Given the description of an element on the screen output the (x, y) to click on. 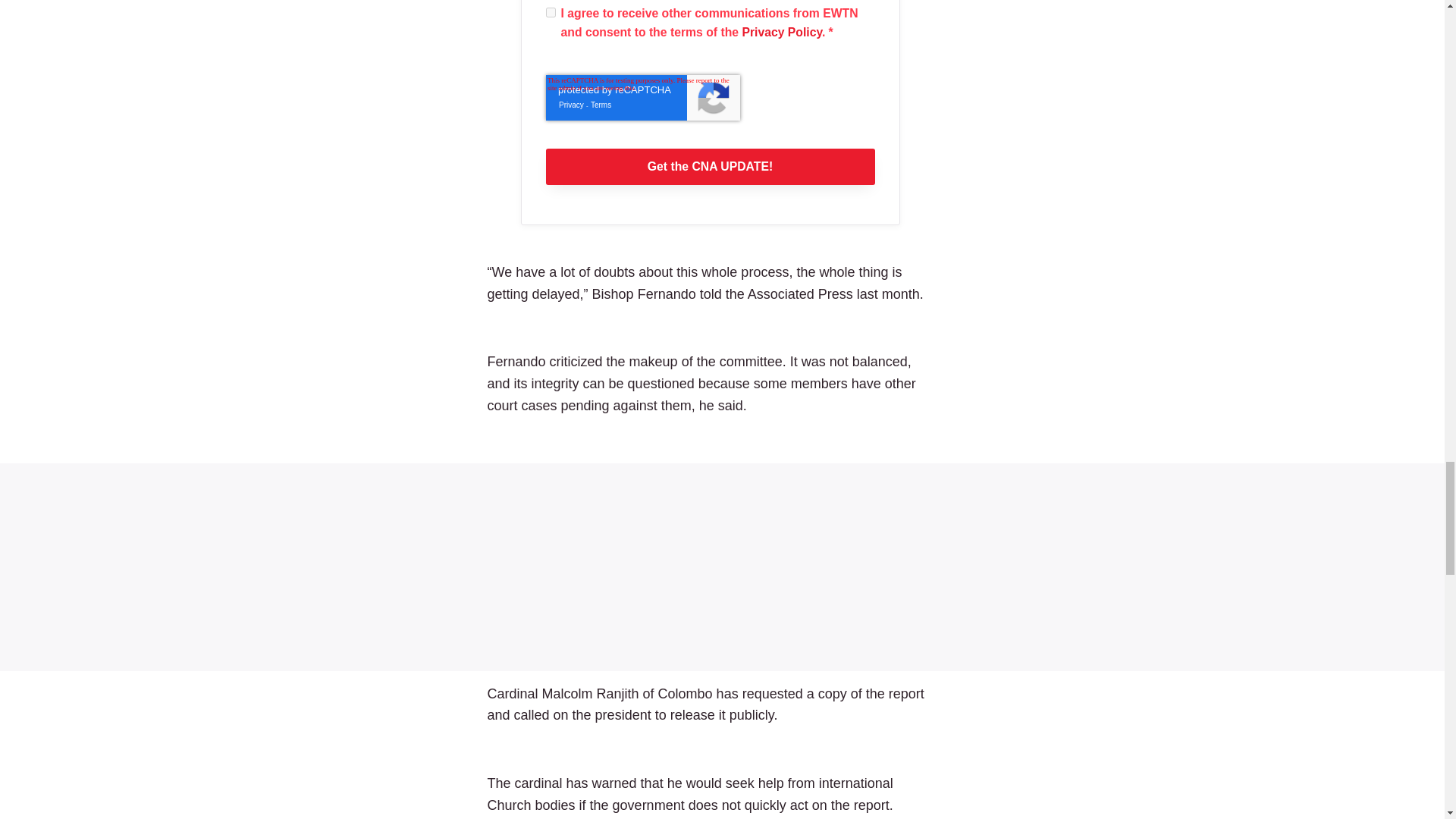
Get the CNA UPDATE! (710, 166)
true (551, 12)
reCAPTCHA (642, 97)
3rd party ad content (721, 566)
